Given the description of an element on the screen output the (x, y) to click on. 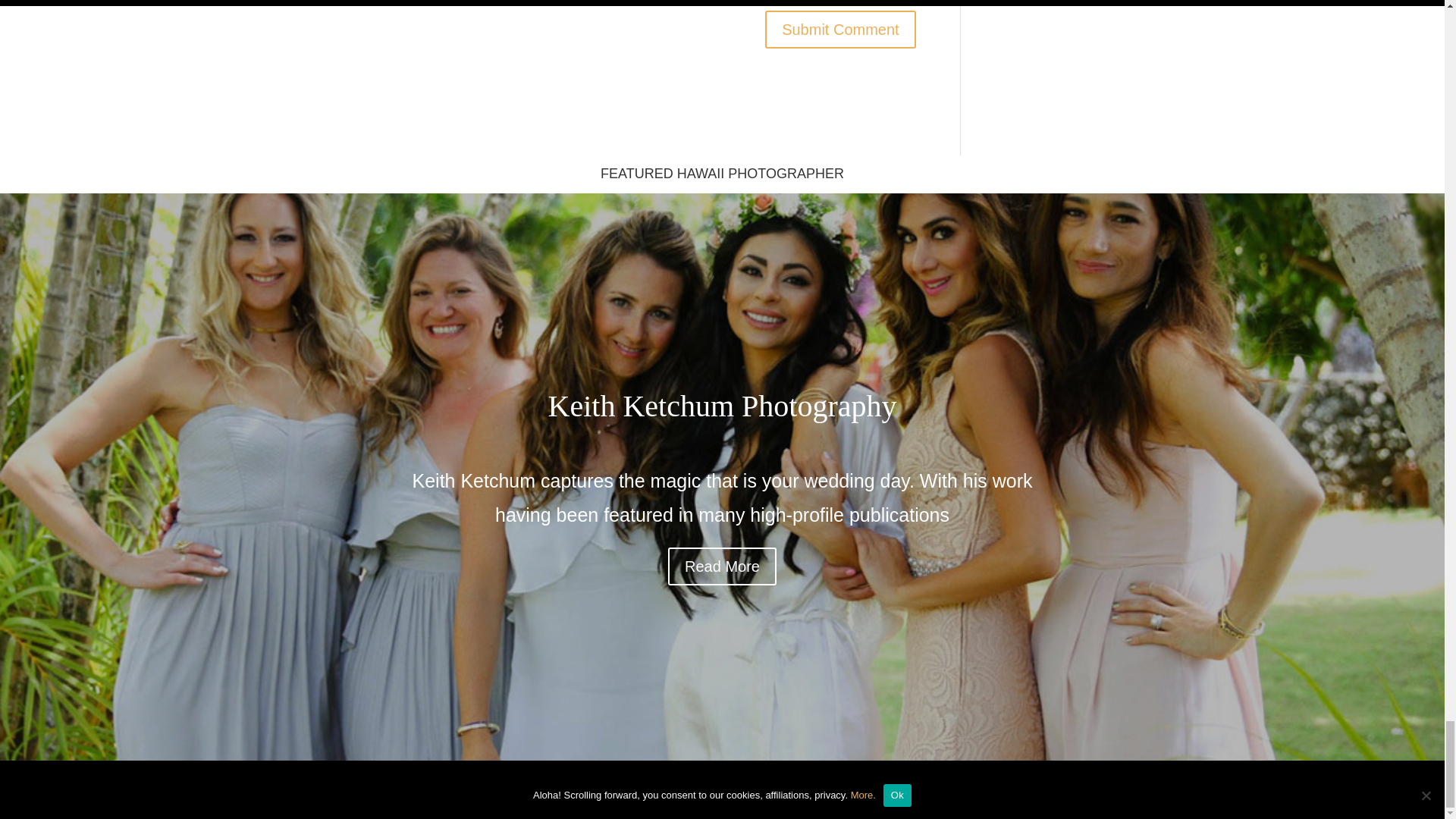
Hawaii wedding photography (341, 792)
Submit Comment (840, 29)
Get Listed! (472, 792)
Read More (722, 566)
Follow on Pinterest (1028, 790)
Weddings (341, 792)
Hawaii portrait photography (405, 792)
Hawaii photographers (472, 792)
Follow on Youtube (1118, 790)
Submit Comment (840, 29)
Portraits (405, 792)
Follow on Facebook (1088, 790)
Follow on Instagram (1058, 790)
